Given the description of an element on the screen output the (x, y) to click on. 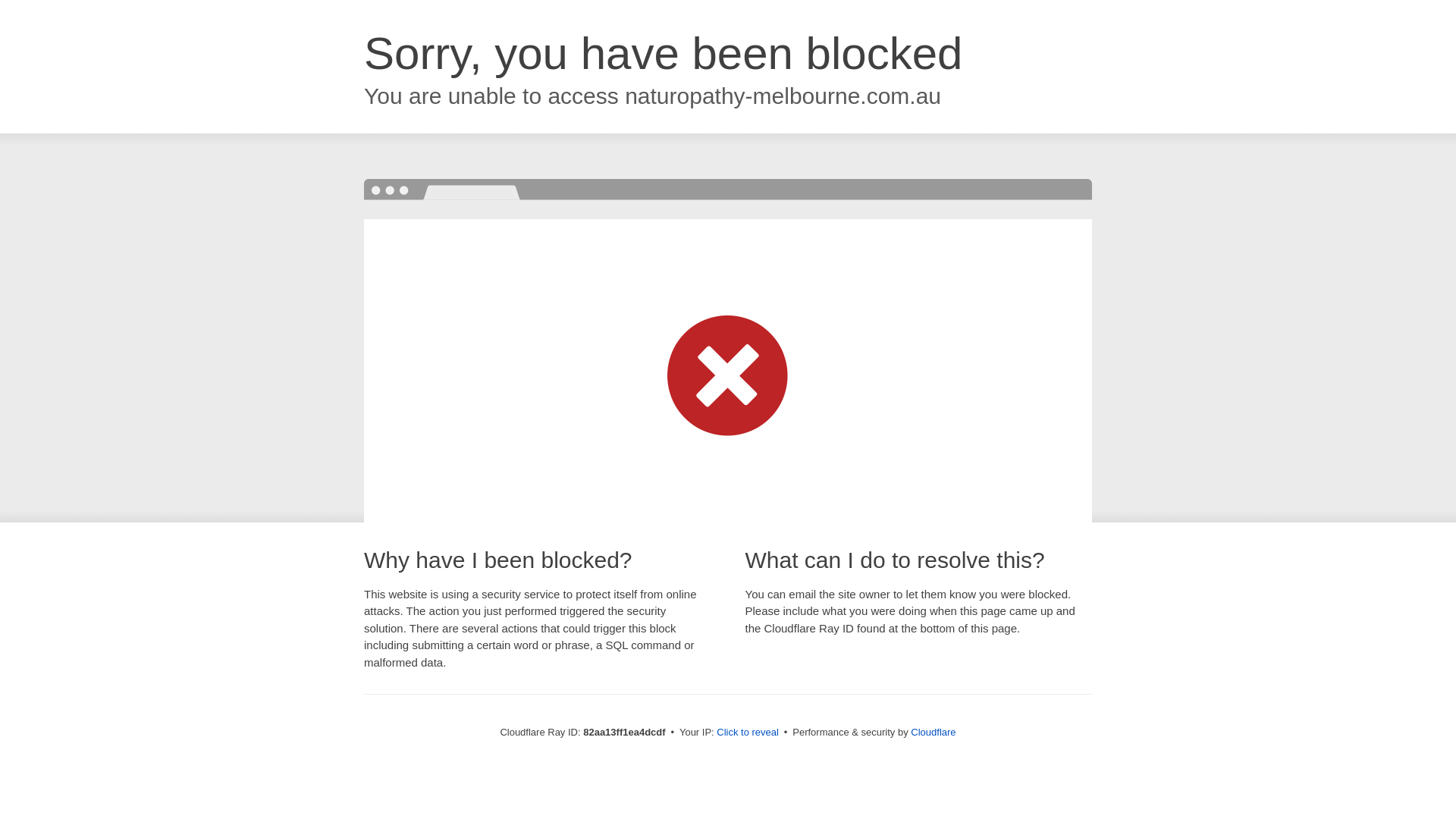
Click to reveal Element type: text (747, 732)
Cloudflare Element type: text (932, 731)
